Given the description of an element on the screen output the (x, y) to click on. 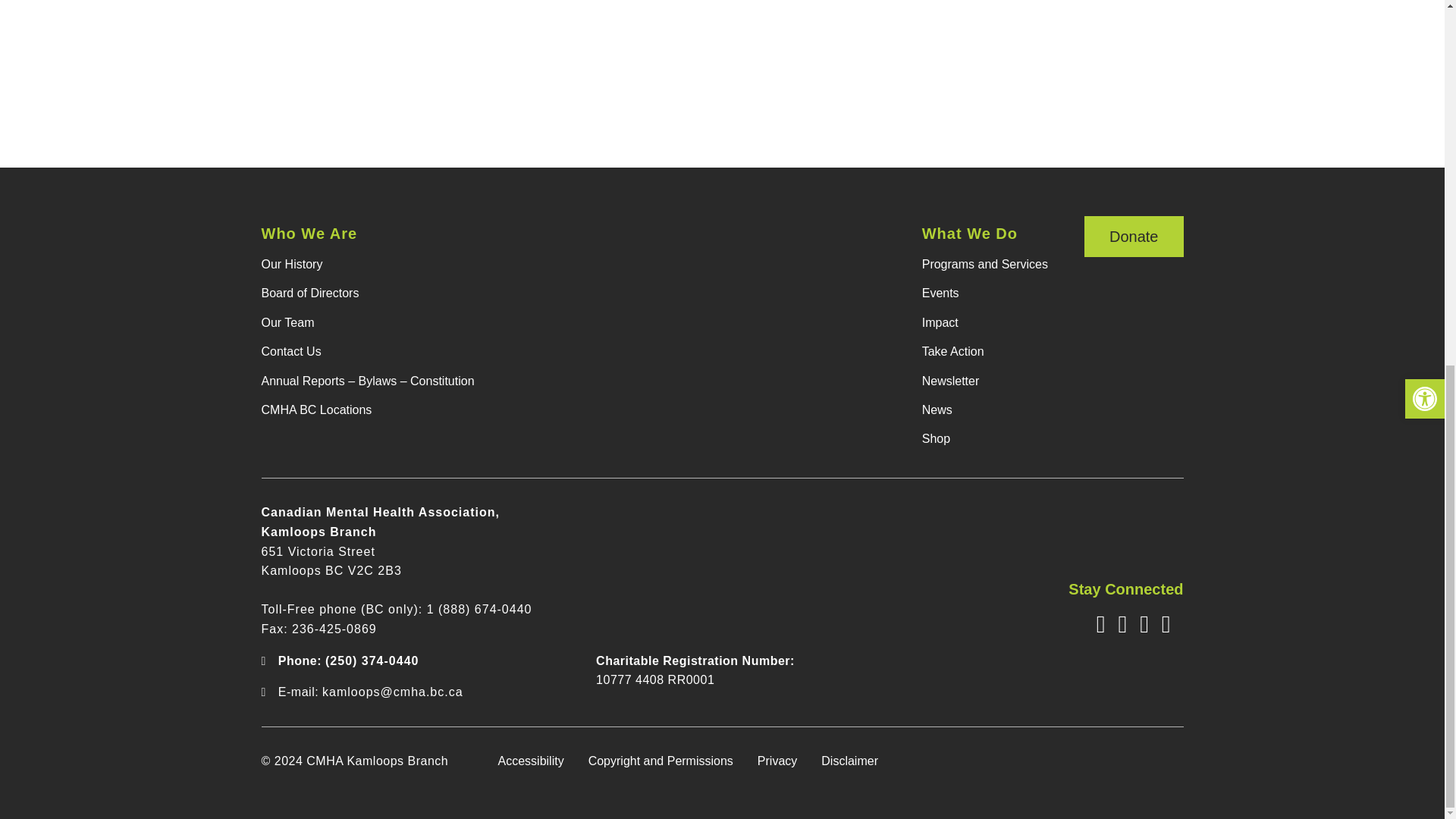
CMHA Kamloops - Genesis Place (721, 59)
